Given the description of an element on the screen output the (x, y) to click on. 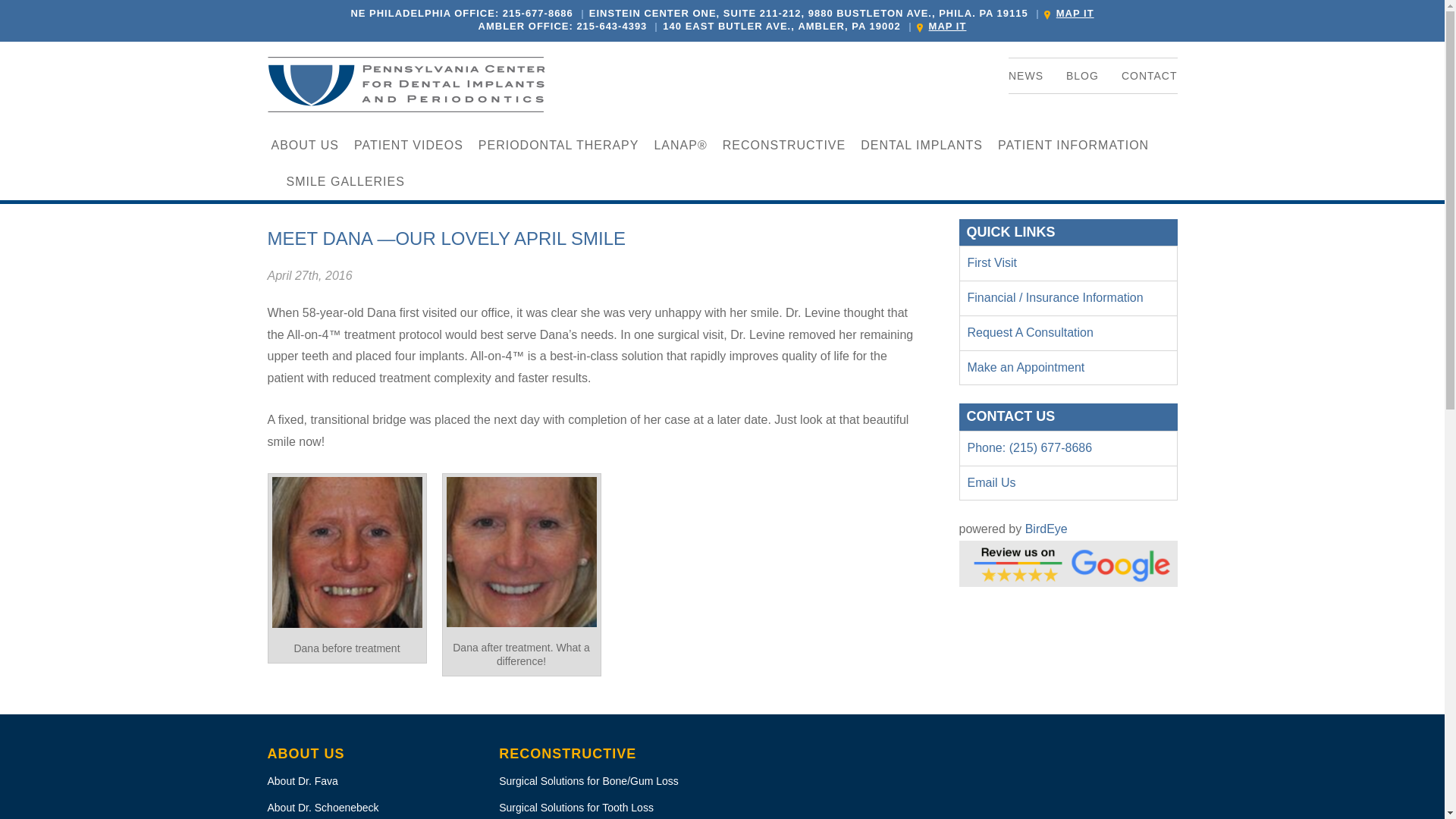
ABOUT US (304, 145)
215-643-4393 (611, 25)
DENTAL IMPLANTS (921, 145)
RECONSTRUCTIVE (783, 145)
MAP IT (1068, 12)
MAP IT (941, 25)
PATIENT INFORMATION (1072, 145)
215-677-8686 (537, 12)
PATIENT VIDEOS (408, 145)
PERIODONTAL THERAPY (559, 145)
